Given the description of an element on the screen output the (x, y) to click on. 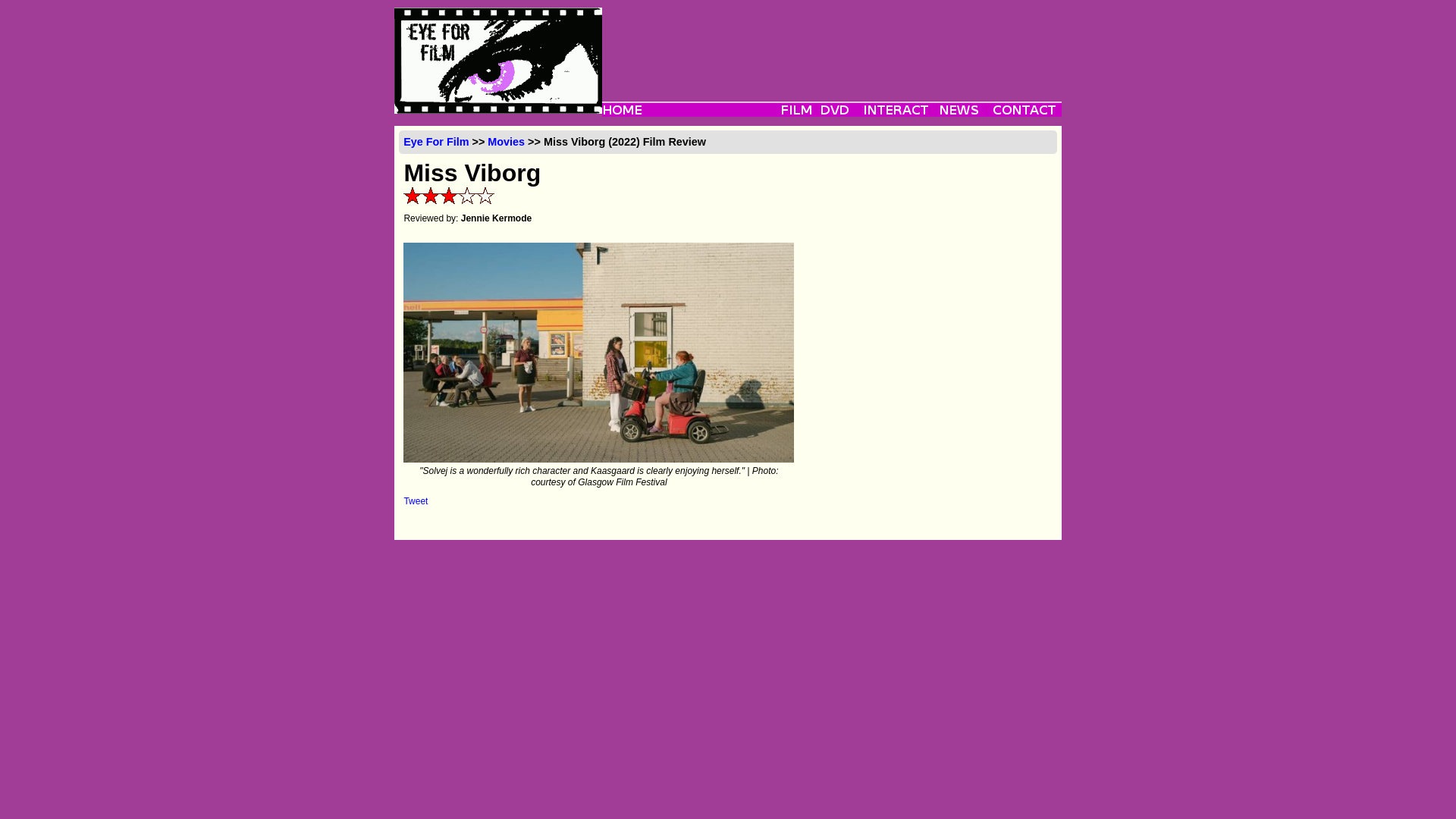
Tweet (415, 501)
Movies (505, 141)
Jennie Kermode (496, 217)
Advertisement (832, 41)
Eye For Film (435, 141)
